Given the description of an element on the screen output the (x, y) to click on. 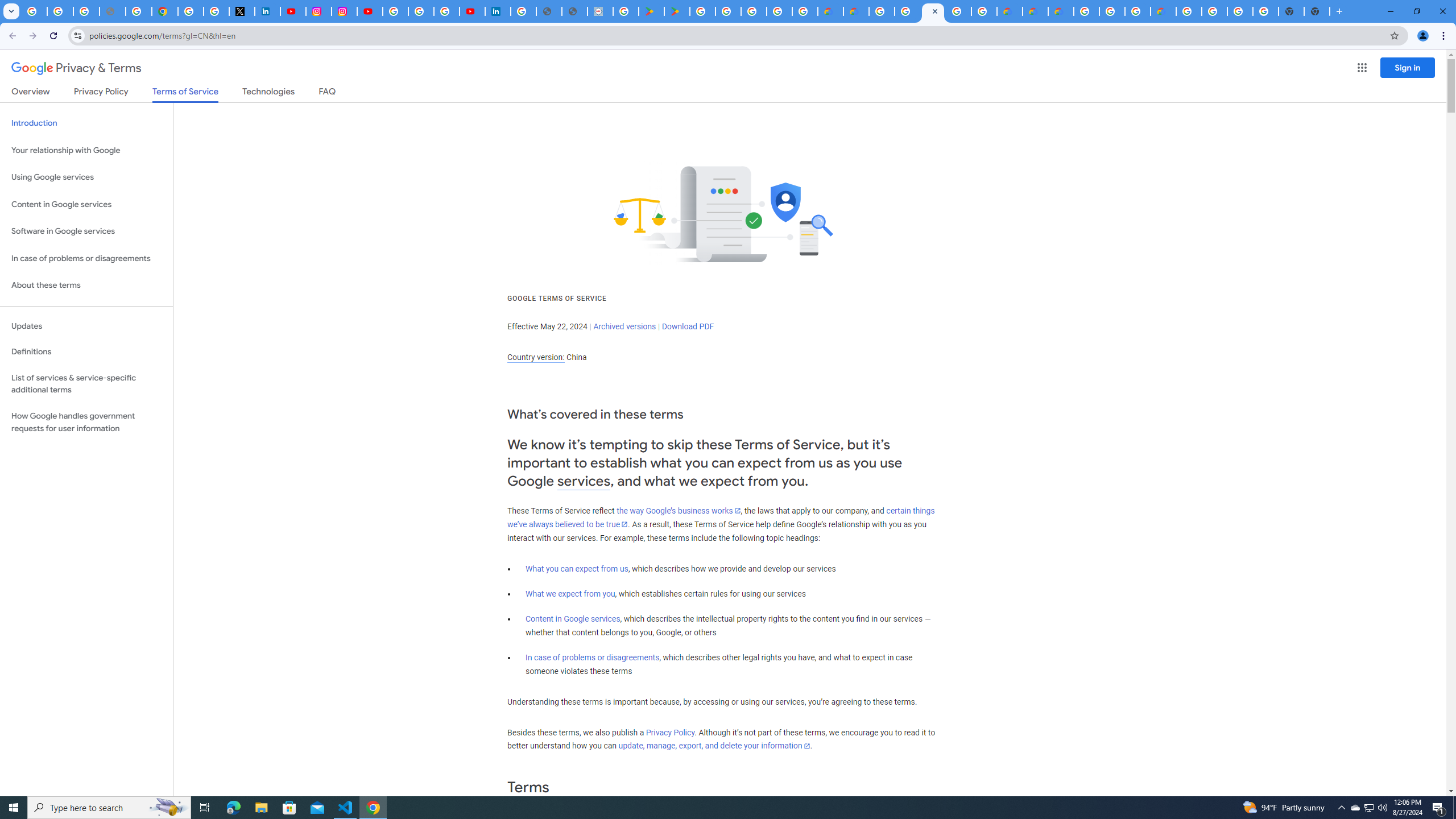
Customer Care | Google Cloud (1009, 11)
